Given the description of an element on the screen output the (x, y) to click on. 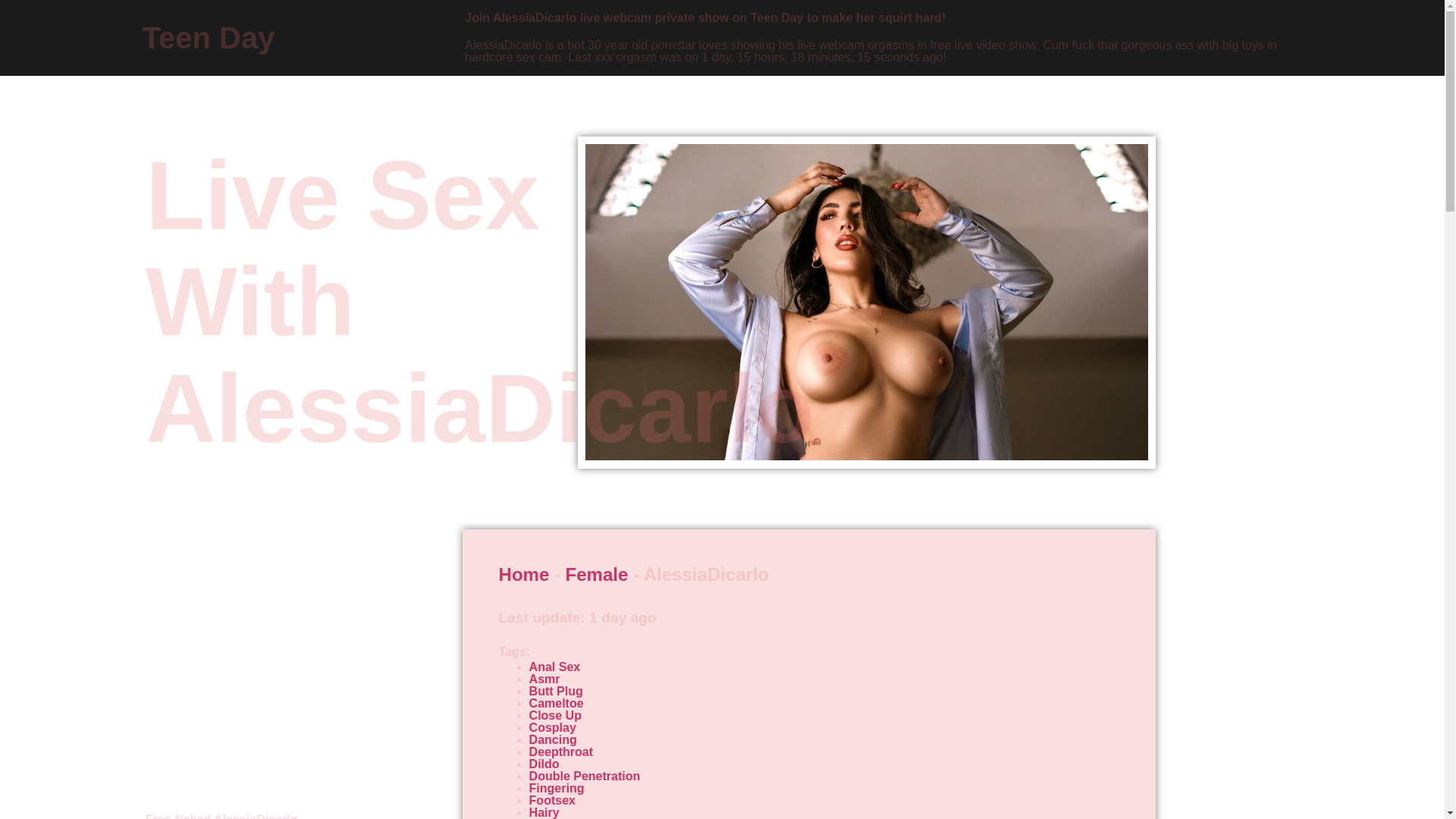
Anal Sex (554, 666)
Deepthroat (560, 751)
Home (524, 574)
Hairy (544, 812)
Teen Day (208, 37)
Free Naked AlessiaDicarlo (221, 816)
Butt Plug (556, 690)
Cosplay (552, 727)
High Heel (557, 818)
Teen Day (208, 37)
Dancing (552, 739)
Asmr (544, 678)
Free Naked AlessiaDicarlo (221, 816)
Close Up (554, 715)
Cameltoe (556, 703)
